Given the description of an element on the screen output the (x, y) to click on. 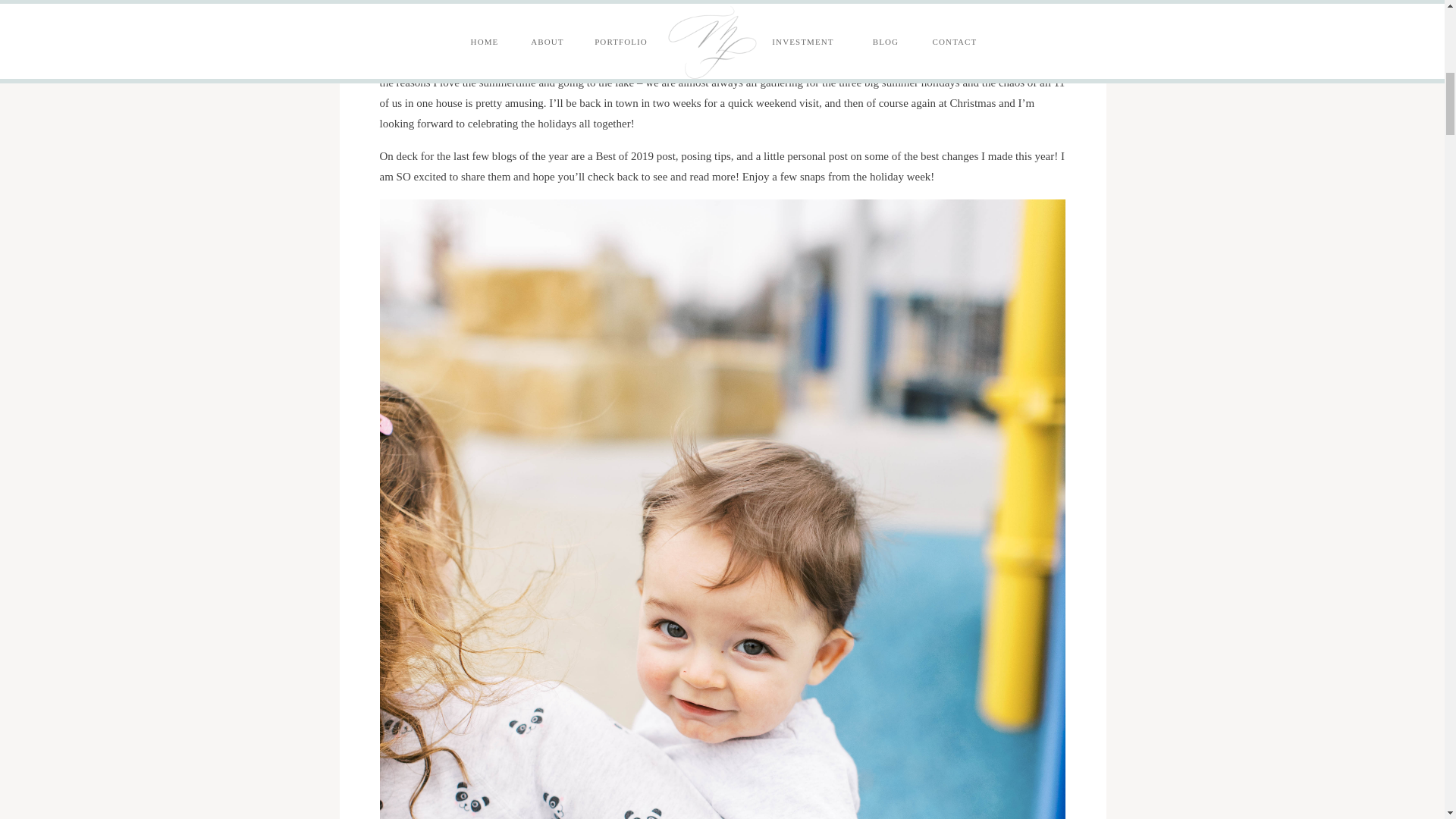
sweet family shoot (529, 29)
